Given the description of an element on the screen output the (x, y) to click on. 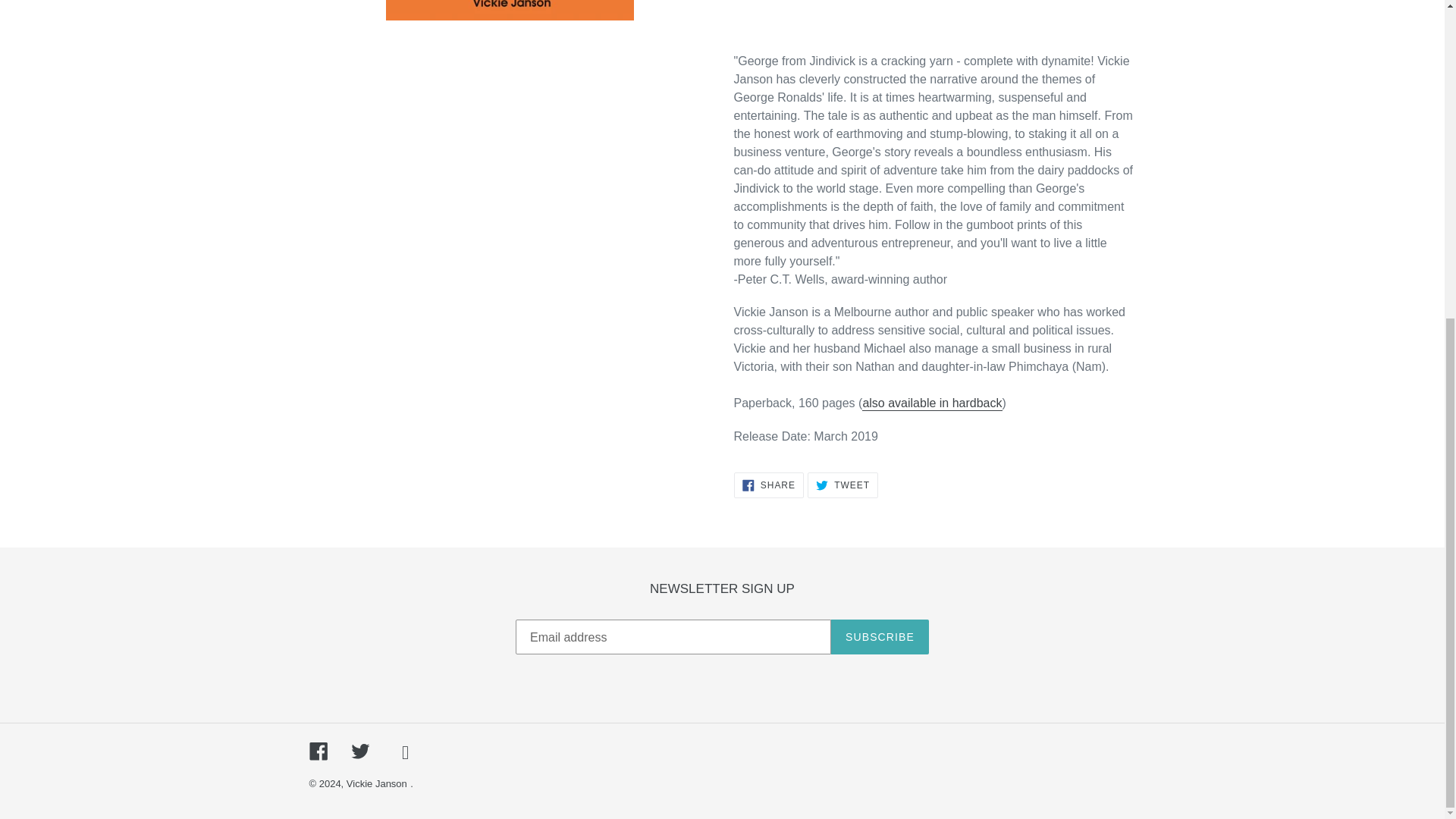
Twitter (359, 751)
George from Jindavick (768, 484)
SUBSCRIBE (931, 403)
Vickie Janson (879, 636)
Facebook (376, 783)
also available in hardback (318, 751)
